Given the description of an element on the screen output the (x, y) to click on. 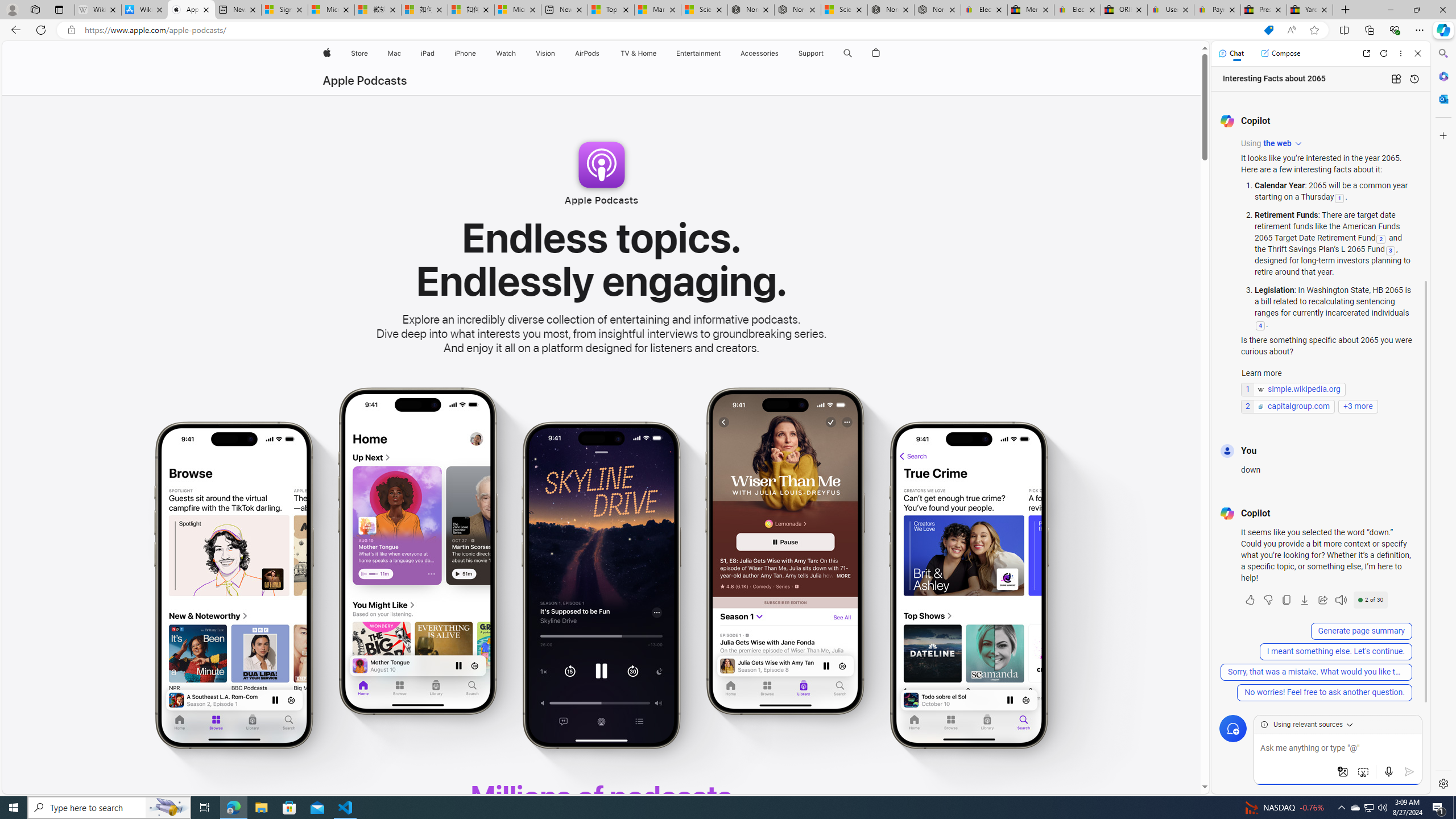
Top Stories - MSN (610, 9)
Class: globalnav-submenu-trigger-item (825, 53)
Accessories menu (780, 53)
Wikipedia - Sleeping (97, 9)
TV and Home menu (658, 53)
Compose (1280, 52)
AutomationID: globalnav-bag (876, 53)
Shopping Bag (876, 53)
